Given the description of an element on the screen output the (x, y) to click on. 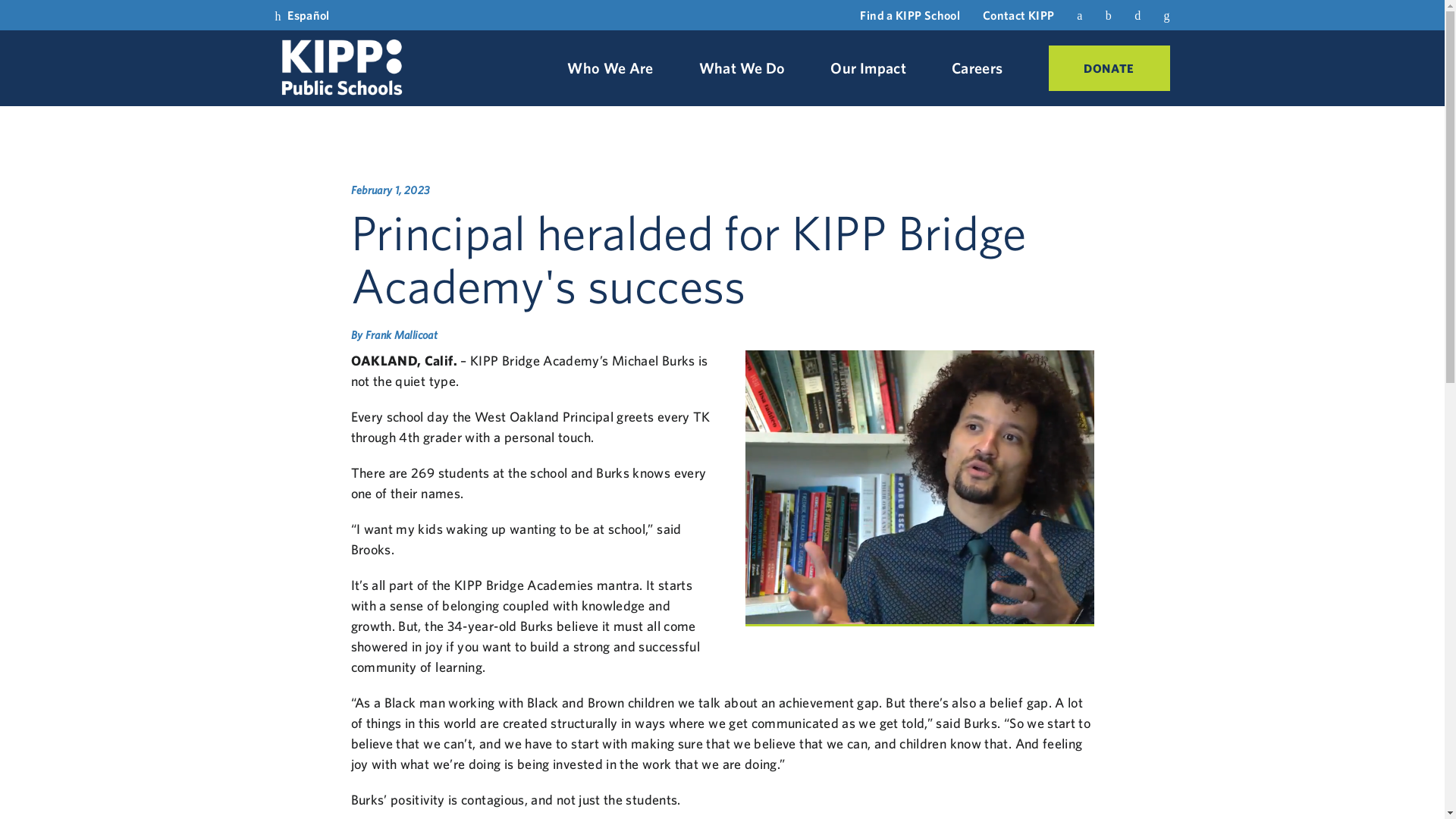
Careers (977, 68)
Search (1166, 14)
DONATE (1108, 67)
Who We Are (610, 68)
Instagram (1136, 14)
Twitter (1108, 14)
Contact KIPP (1018, 15)
KIPP-Bridge-Academy-Principal (918, 488)
Our Impact (868, 68)
What We Do (742, 68)
